Given the description of an element on the screen output the (x, y) to click on. 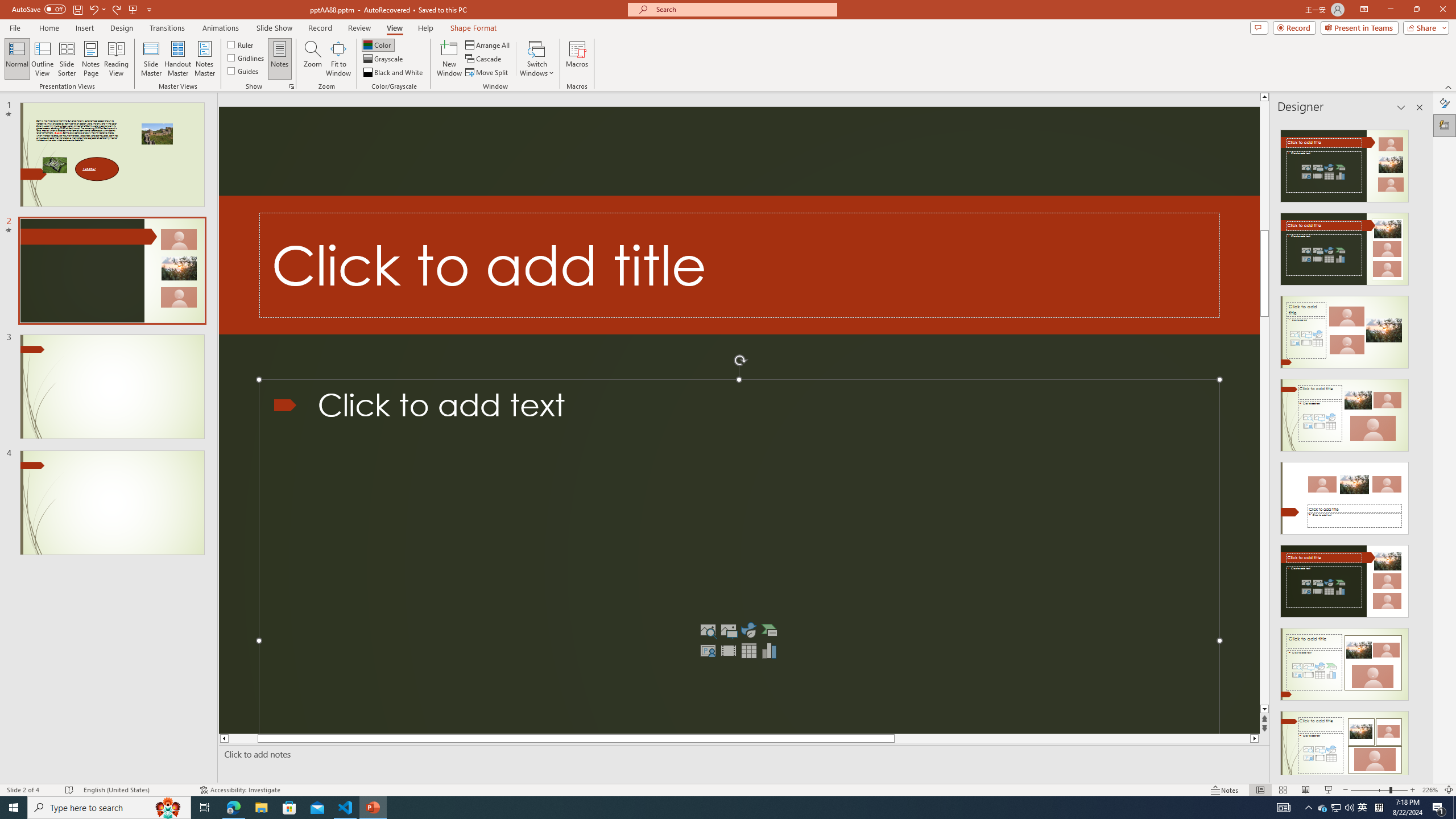
Shape Format (473, 28)
Design Idea (1344, 743)
Format Background (1444, 102)
Notes (279, 58)
Insert Table (748, 650)
Notes Master (204, 58)
